Given the description of an element on the screen output the (x, y) to click on. 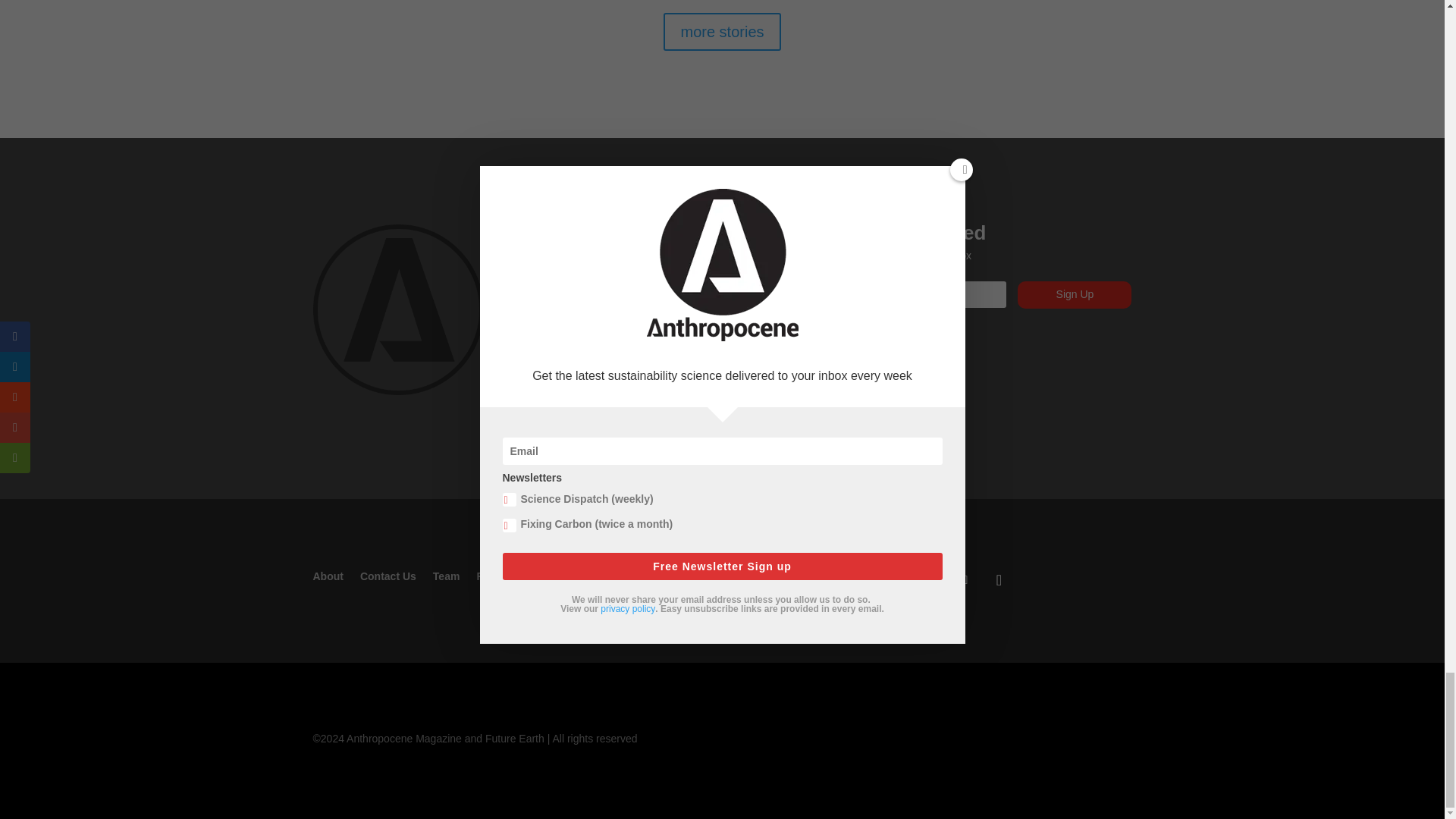
Follow on Facebook (873, 580)
